Given the description of an element on the screen output the (x, y) to click on. 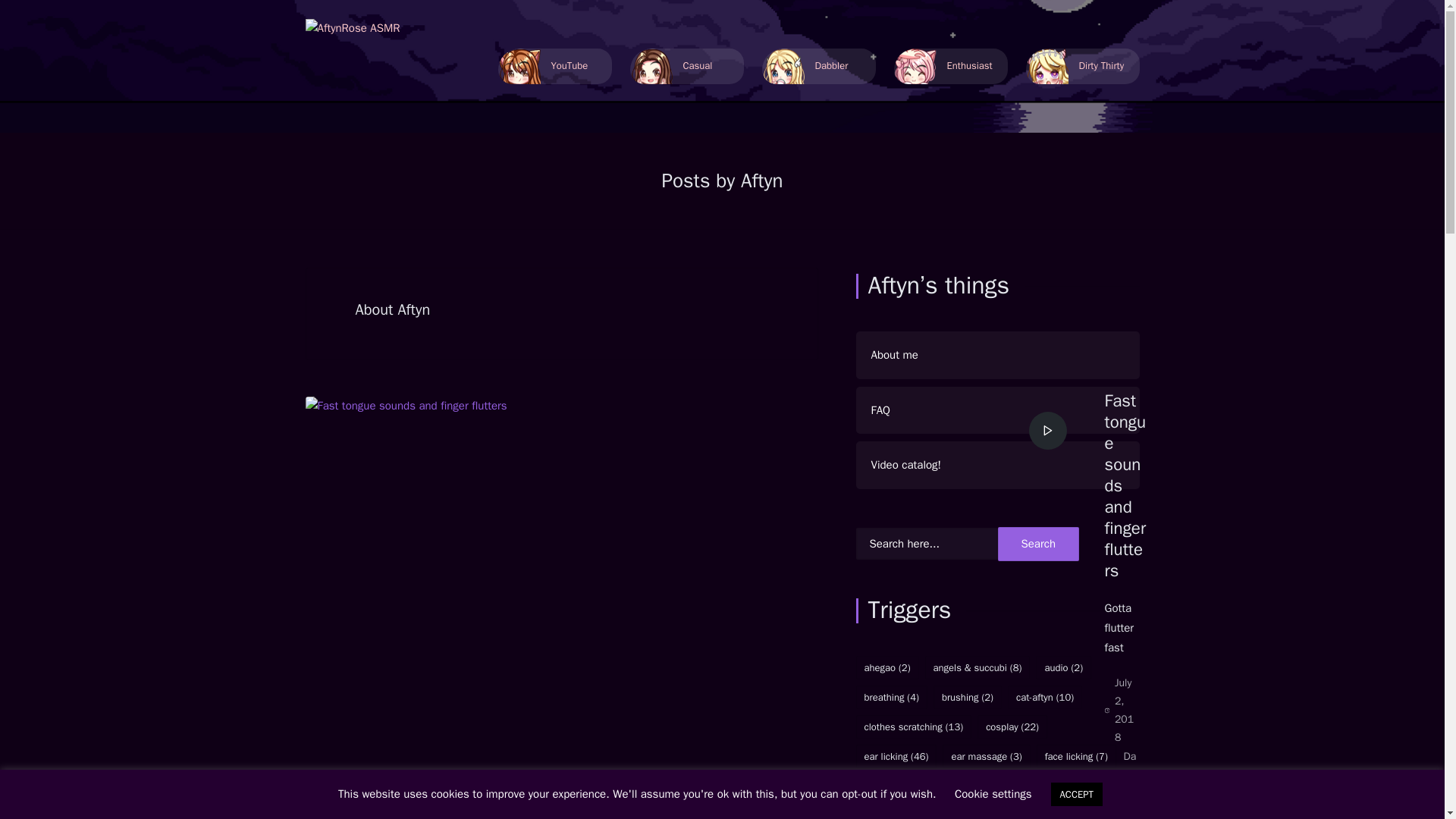
YouTube (554, 66)
Enthusiast (950, 66)
Search (1038, 544)
ear licking (1129, 811)
Casual (685, 66)
Dabbler (818, 66)
Search (1038, 544)
Dirty Thirty (1081, 66)
